Given the description of an element on the screen output the (x, y) to click on. 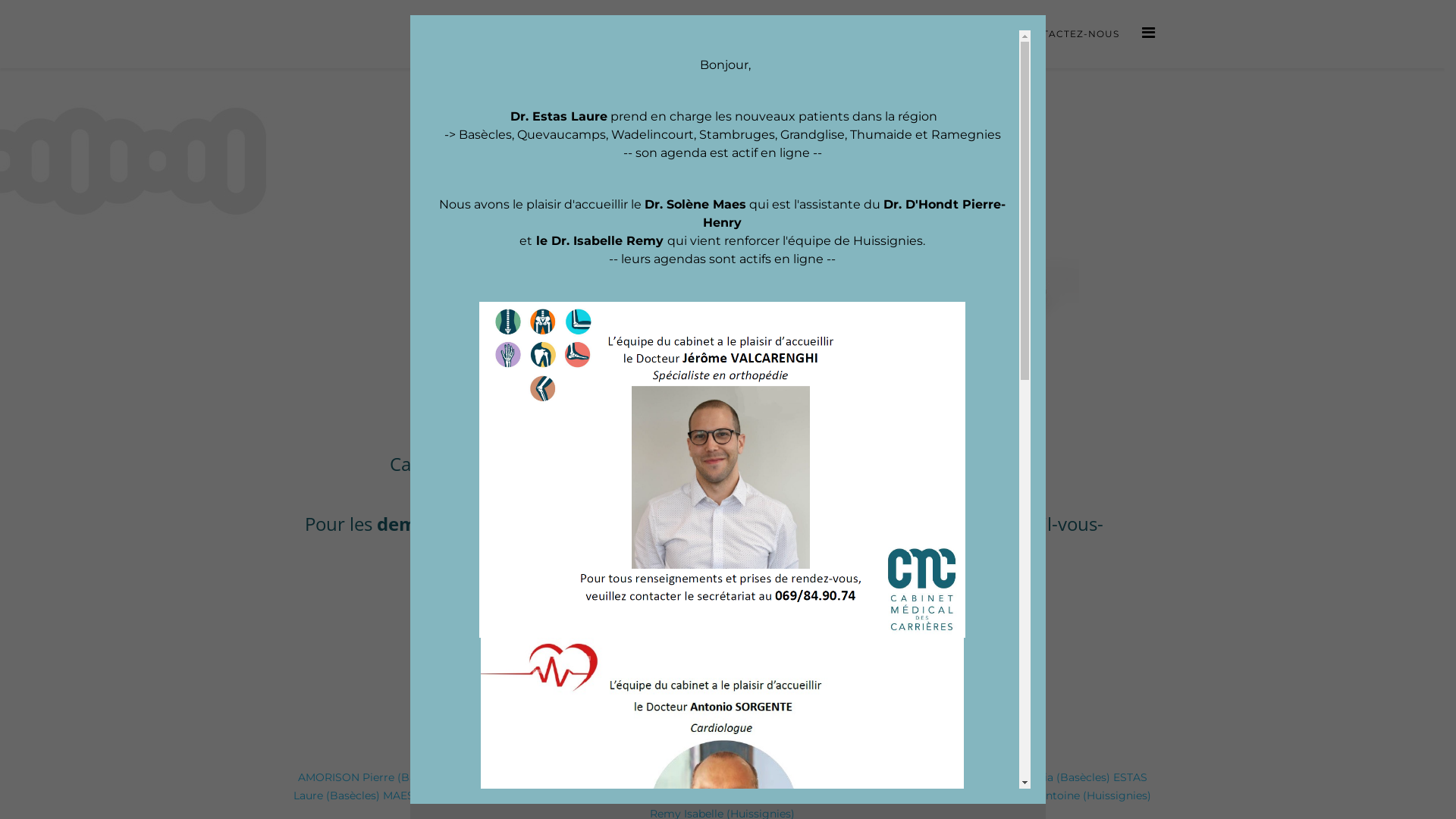
FILBICHE Camille (Huissignies) Element type: text (889, 795)
ACCUEIL Element type: text (502, 34)
Helix Megamenu Options Element type: hover (1148, 32)
Close Element type: hover (1045, 14)
INFOS Element type: text (877, 34)
CONTACTEZ-NOUS Element type: text (1068, 34)
PRENDRE RDV Element type: text (956, 34)
D'AMBROS Antoine (Huissignies) Element type: text (1063, 795)
